Given the description of an element on the screen output the (x, y) to click on. 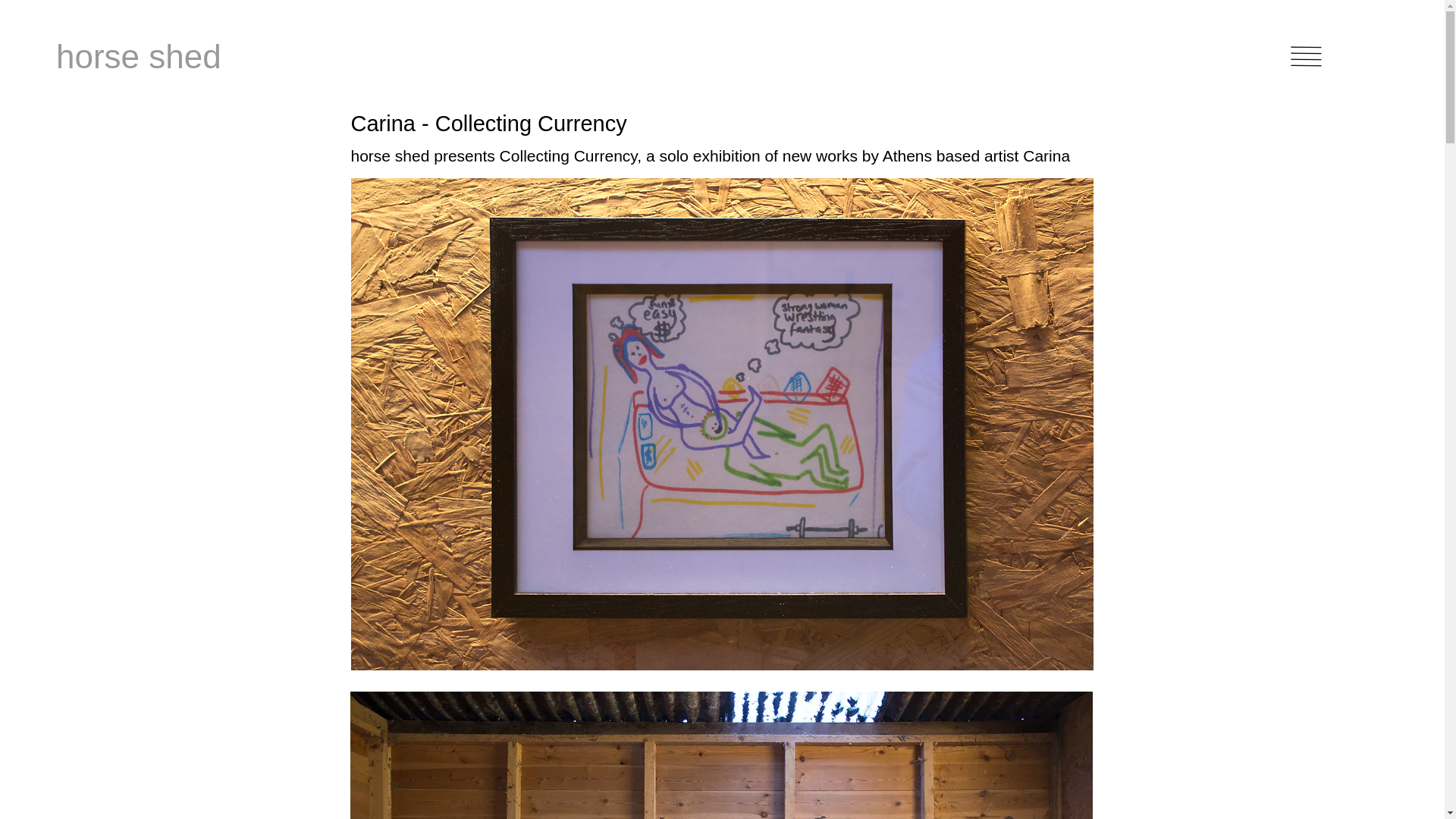
horse shed (172, 56)
